Given the description of an element on the screen output the (x, y) to click on. 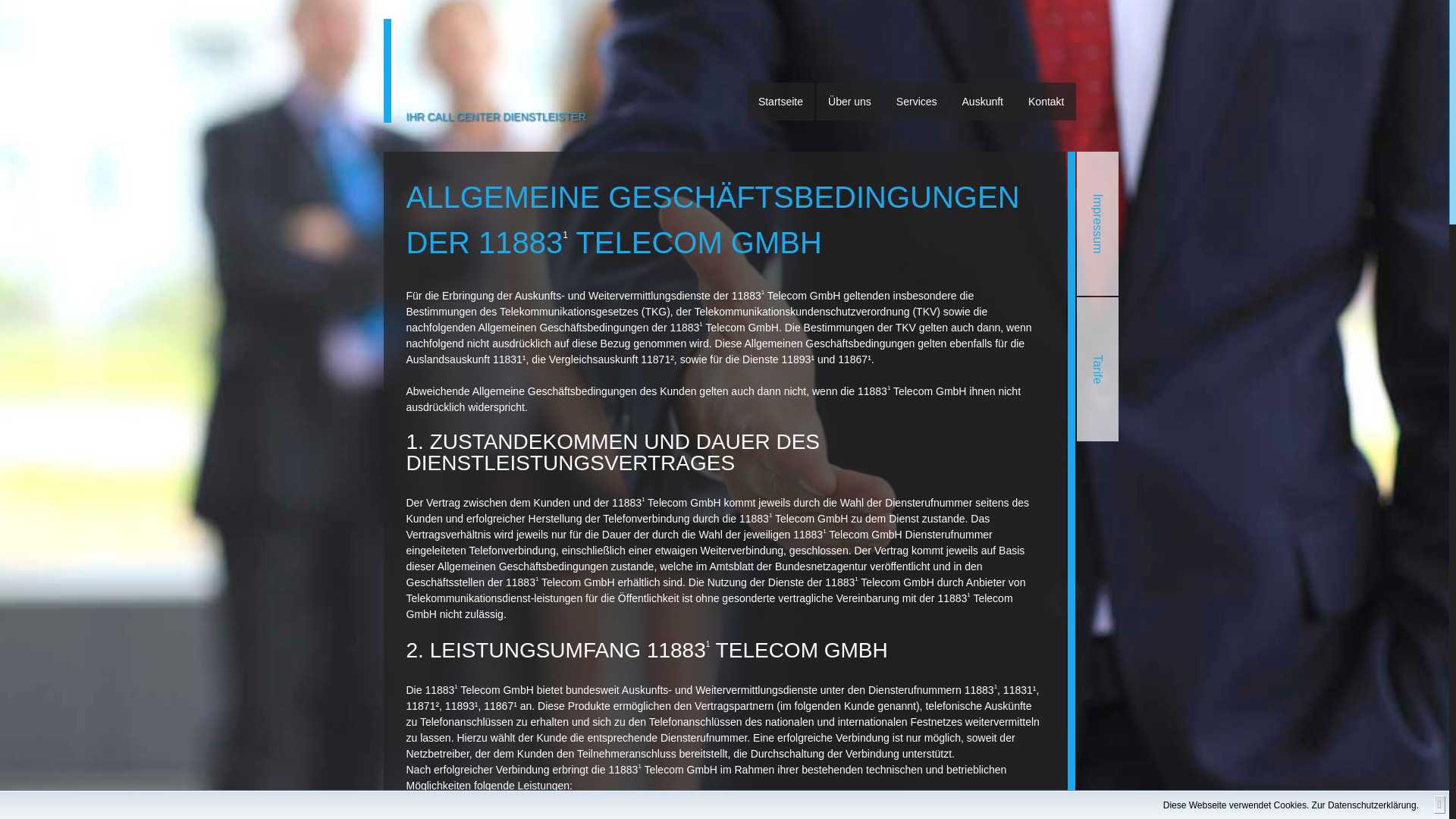
Kontakt Element type: text (1045, 101)
Tarife Element type: text (1148, 317)
11883 Element type: text (482, 56)
Impressum Element type: text (1148, 172)
Startseite Element type: text (780, 101)
